Given the description of an element on the screen output the (x, y) to click on. 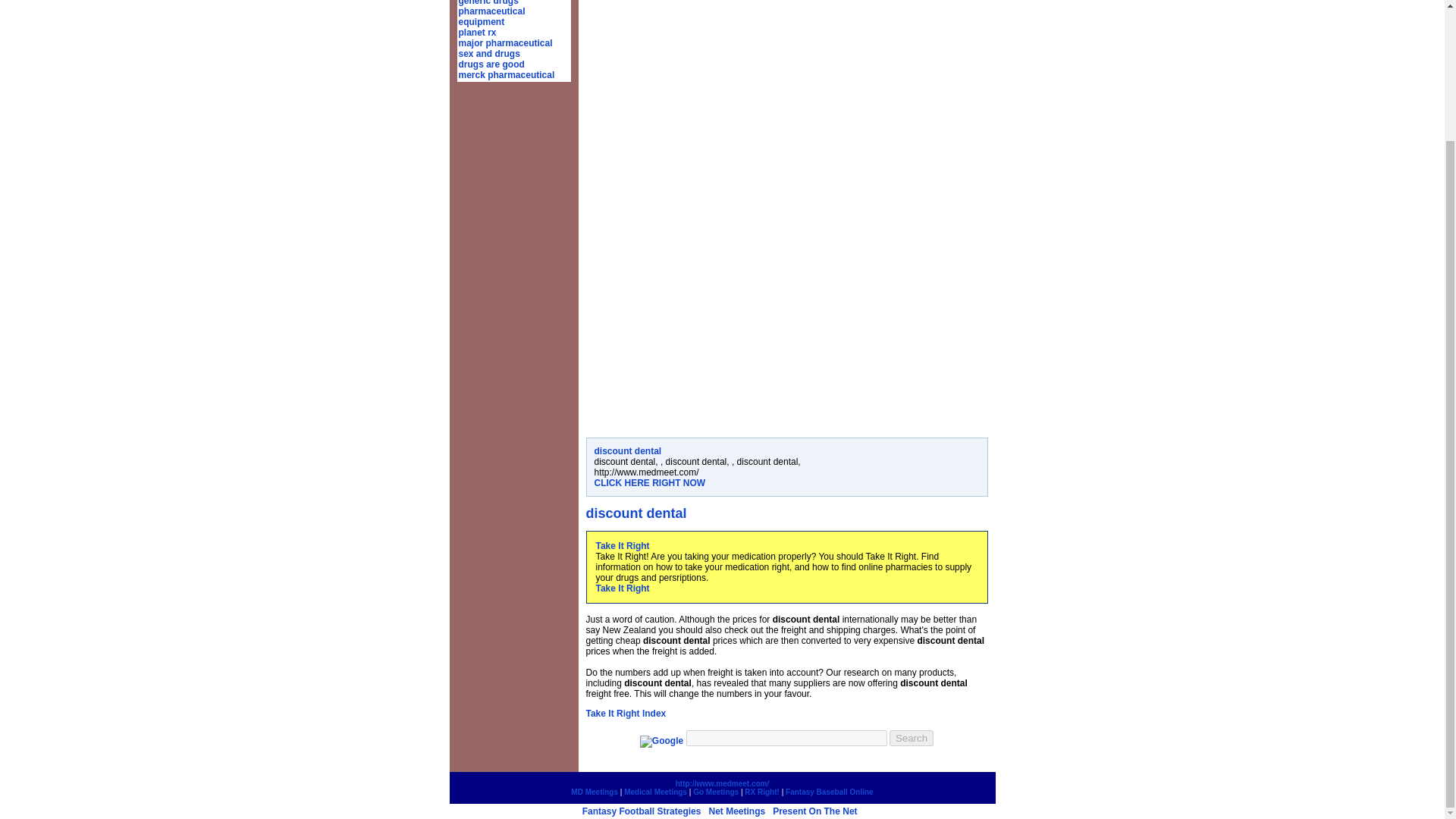
generic drugs (488, 2)
discount dental (628, 450)
Take It Right Index (625, 713)
Fantasy Baseball Online (829, 791)
Take It Right (622, 545)
Take It Right (622, 588)
RX Right! (761, 791)
Net Meetings (736, 810)
MD Meetings (593, 791)
merck pharmaceutical (506, 74)
drugs are good (491, 63)
major pharmaceutical (504, 42)
Advertisement (712, 322)
Search (911, 738)
pharmaceutical equipment (491, 16)
